Given the description of an element on the screen output the (x, y) to click on. 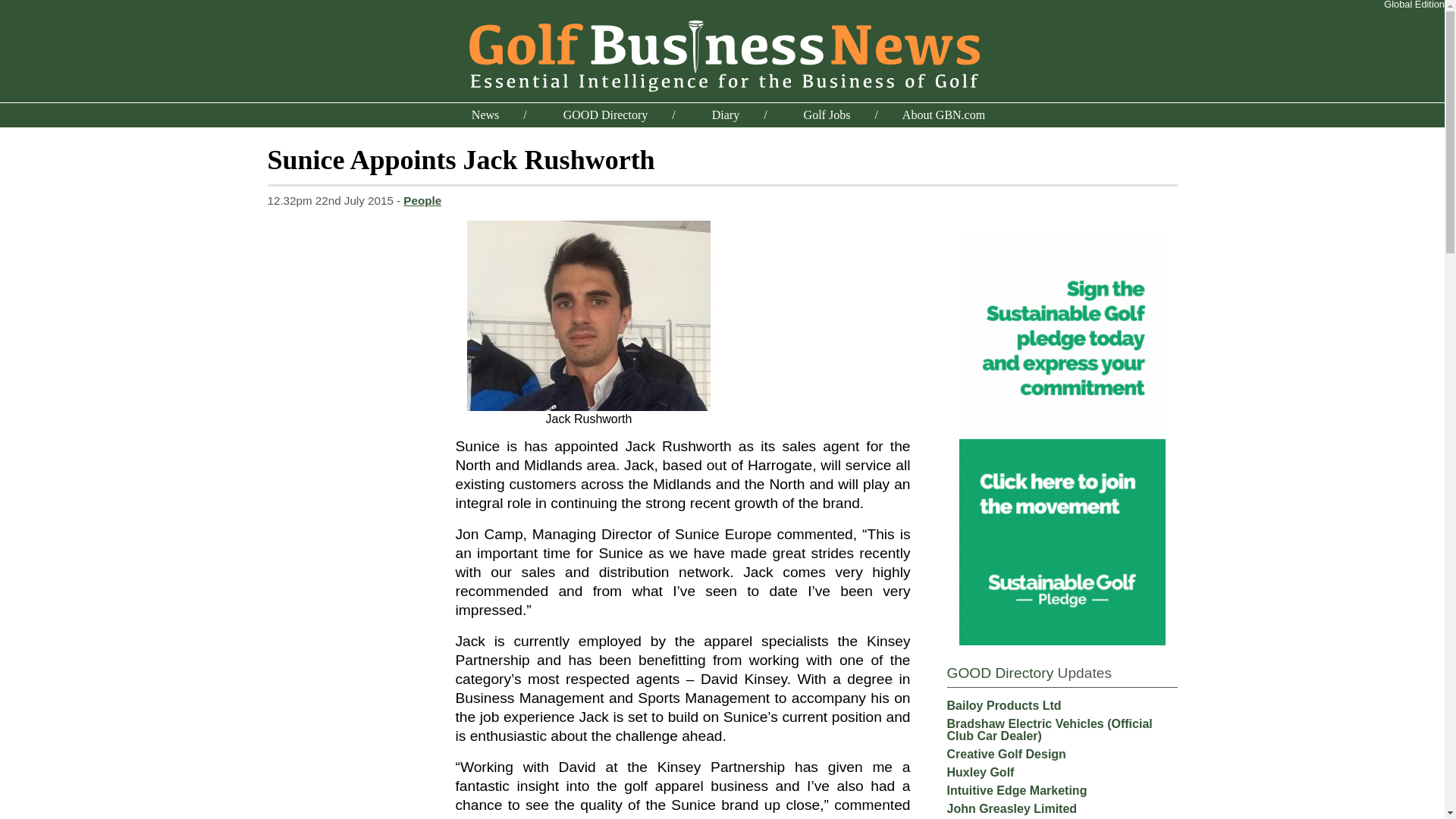
GBN Home (722, 52)
John Greasley Limited (1011, 808)
People (422, 200)
About GBN.com (943, 114)
News (485, 114)
Creative Golf Design (1005, 753)
All the latest news from the golf industry (485, 114)
Golf Jobs (826, 114)
Huxley Golf (979, 771)
